Given the description of an element on the screen output the (x, y) to click on. 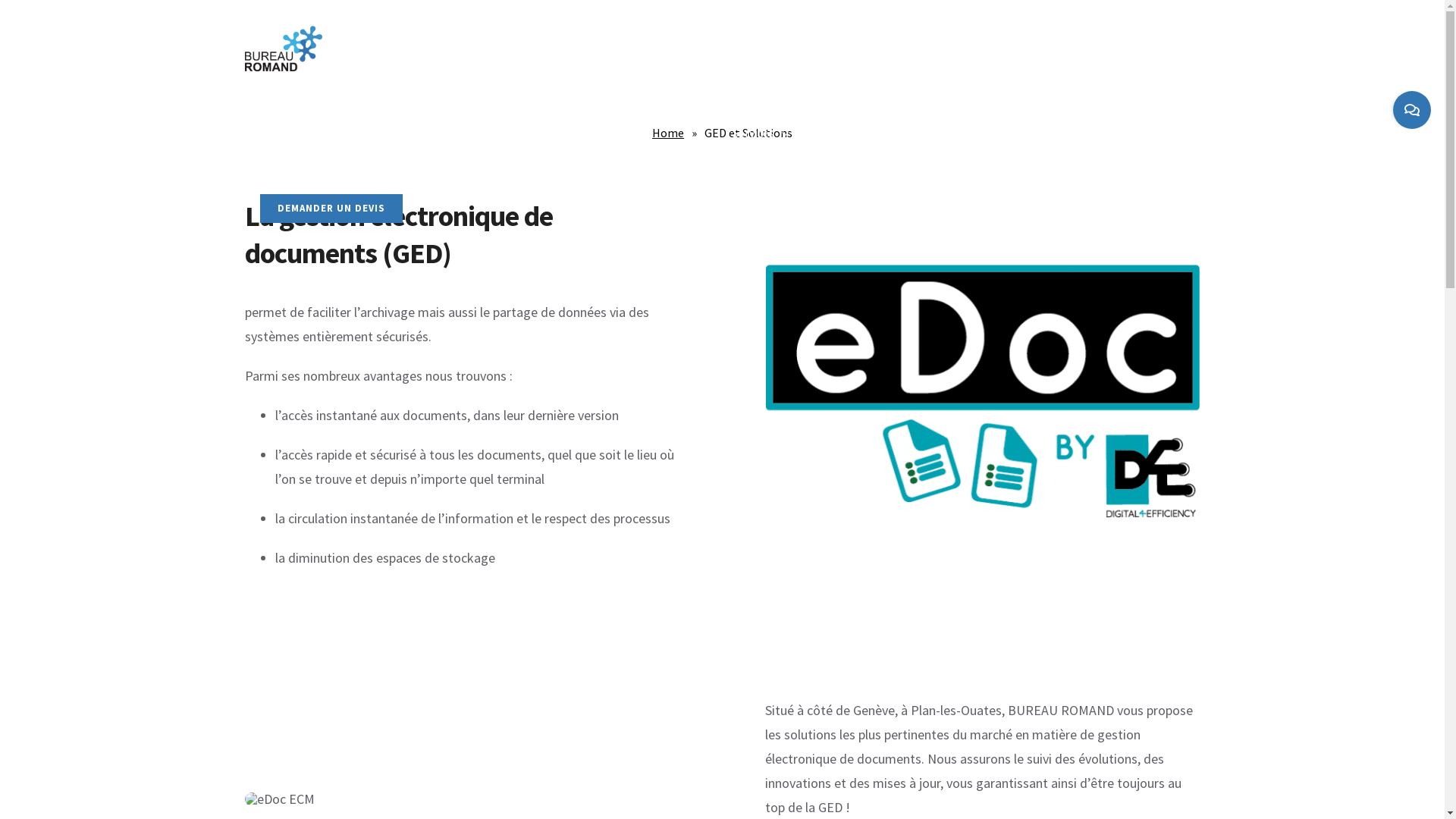
Contact Element type: text (895, 132)
DEMANDER UN DEVIS Element type: text (330, 208)
Produits & solutions Element type: text (592, 132)
Home Element type: text (667, 132)
Logo eDoc ECM descripti Element type: hover (278, 799)
Accueil Element type: text (277, 132)
edoc OK FINAL Element type: hover (982, 387)
Services Element type: text (760, 132)
Bascule de la zone de la barre coulissante Element type: text (1411, 109)
